Given the description of an element on the screen output the (x, y) to click on. 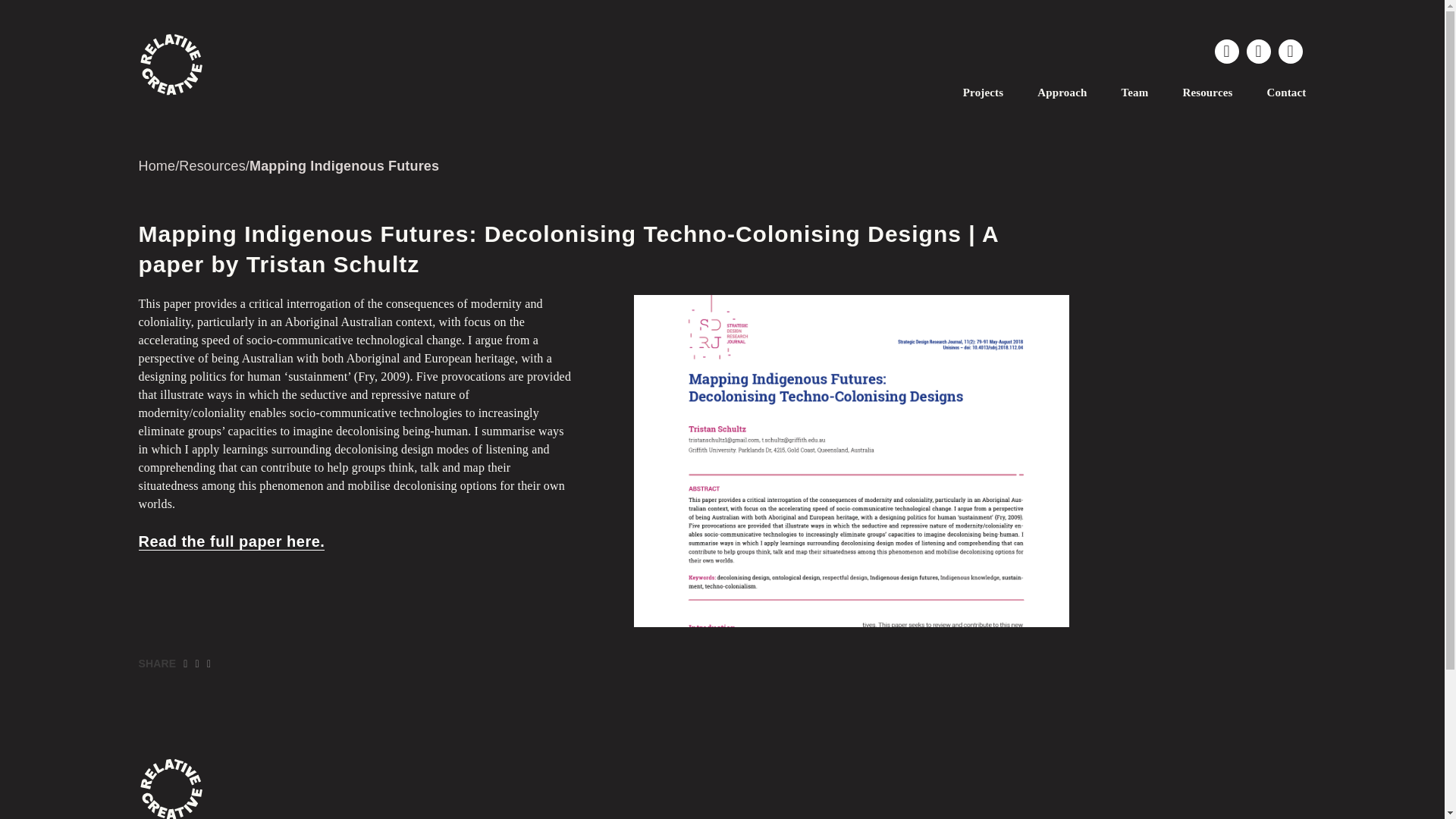
Resources (211, 165)
Read the full paper here. (231, 541)
Resources (1206, 92)
Team (1134, 92)
Home (156, 165)
Projects (982, 92)
Approach (1061, 92)
Contact (1286, 92)
